Given the description of an element on the screen output the (x, y) to click on. 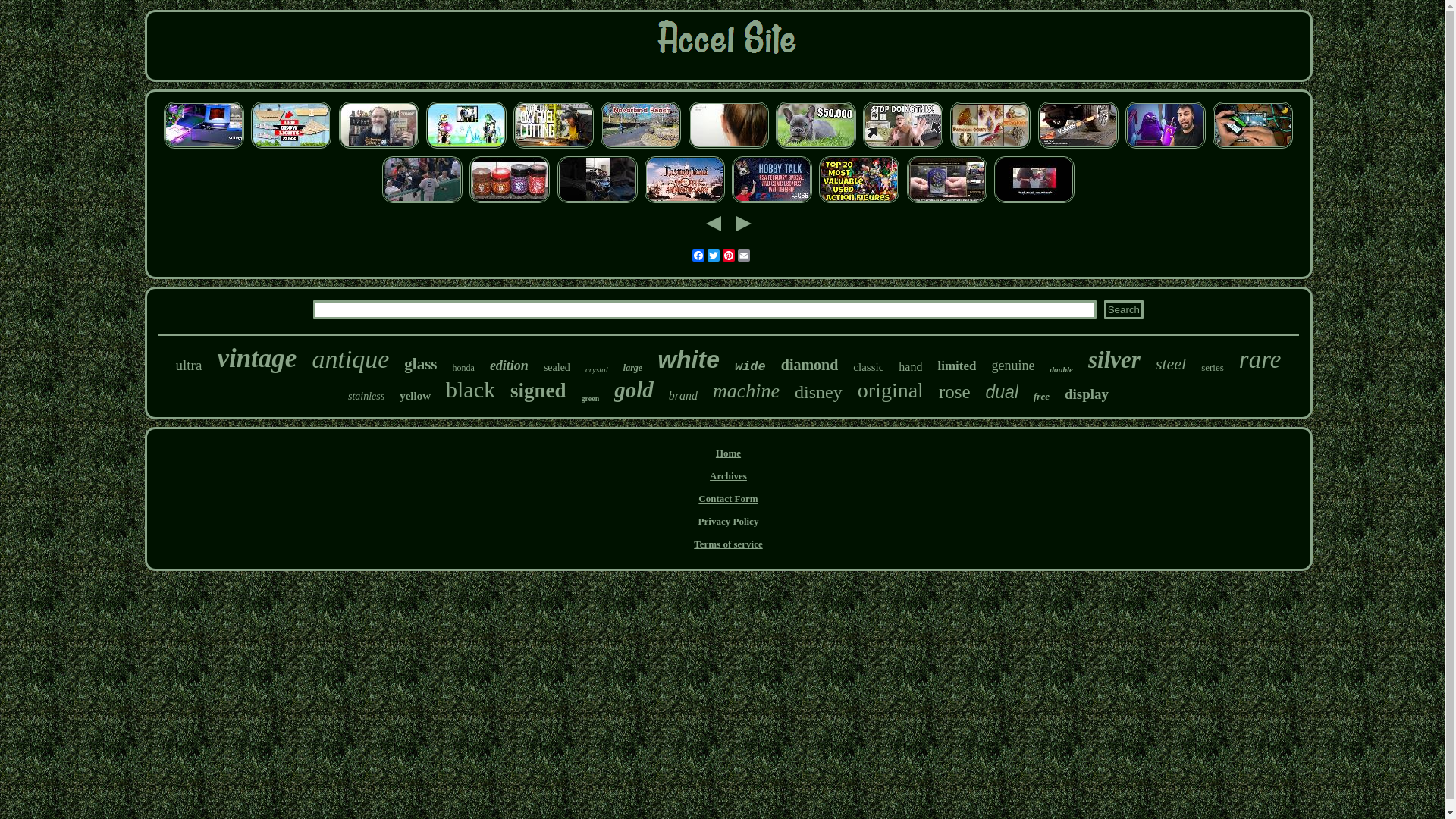
dual Element type: text (1001, 392)
free Element type: text (1041, 396)
genuine Element type: text (1012, 365)
yellow Element type: text (414, 395)
edition Element type: text (508, 365)
crystal Element type: text (596, 368)
sealed Element type: text (556, 367)
honda Element type: text (463, 367)
Vintage Lot of 16 Bootleg Mexican Star Wars Figures Element type: hover (858, 201)
series Element type: text (1212, 367)
antique Element type: text (350, 359)
Search Element type: text (1123, 309)
Caldo Cutting Mini Torch welding Oxyfuel System Element type: hover (553, 147)
Disney snowglobe Mulan 10th Anniversary Element type: hover (684, 201)
signed Element type: text (538, 390)
green Element type: text (590, 398)
Contact Form Element type: text (727, 498)
machine Element type: text (745, 390)
Twitter Element type: text (712, 255)
large Element type: text (632, 367)
gold Element type: text (633, 389)
rose Element type: text (954, 391)
Privacy Policy Element type: text (728, 521)
wide Element type: text (749, 366)
steel Element type: text (1170, 363)
ultra Element type: text (188, 365)
display Element type: text (1086, 393)
hand Element type: text (910, 366)
brand Element type: text (682, 395)
black Element type: text (470, 389)
vintage Element type: text (256, 358)
disney Element type: text (818, 392)
Newest videos Element type: hover (1165, 147)
Email Element type: text (742, 255)
Home Element type: text (727, 452)
Facebook Element type: text (697, 255)
Archives Element type: text (727, 475)
Dell Wyse 5070 Extended Thin Client 16f/8gb 4XM94 NOB Element type: hover (1252, 147)
Pinterest Element type: text (727, 255)
classic Element type: text (868, 366)
silver Element type: text (1114, 359)
rare Element type: text (1260, 359)
original Element type: text (890, 390)
limited Element type: text (956, 365)
stainless Element type: text (366, 396)
Terms of service Element type: text (727, 543)
double Element type: text (1061, 368)
white Element type: text (688, 359)
February 2023 Psa Complete Set Element type: hover (771, 201)
diamond Element type: text (809, 364)
glass Element type: text (420, 363)
Vintage Motu Ultra Rare Flocked Battle Cat Ex-yu Bootleg/ko Element type: hover (465, 147)
